Given the description of an element on the screen output the (x, y) to click on. 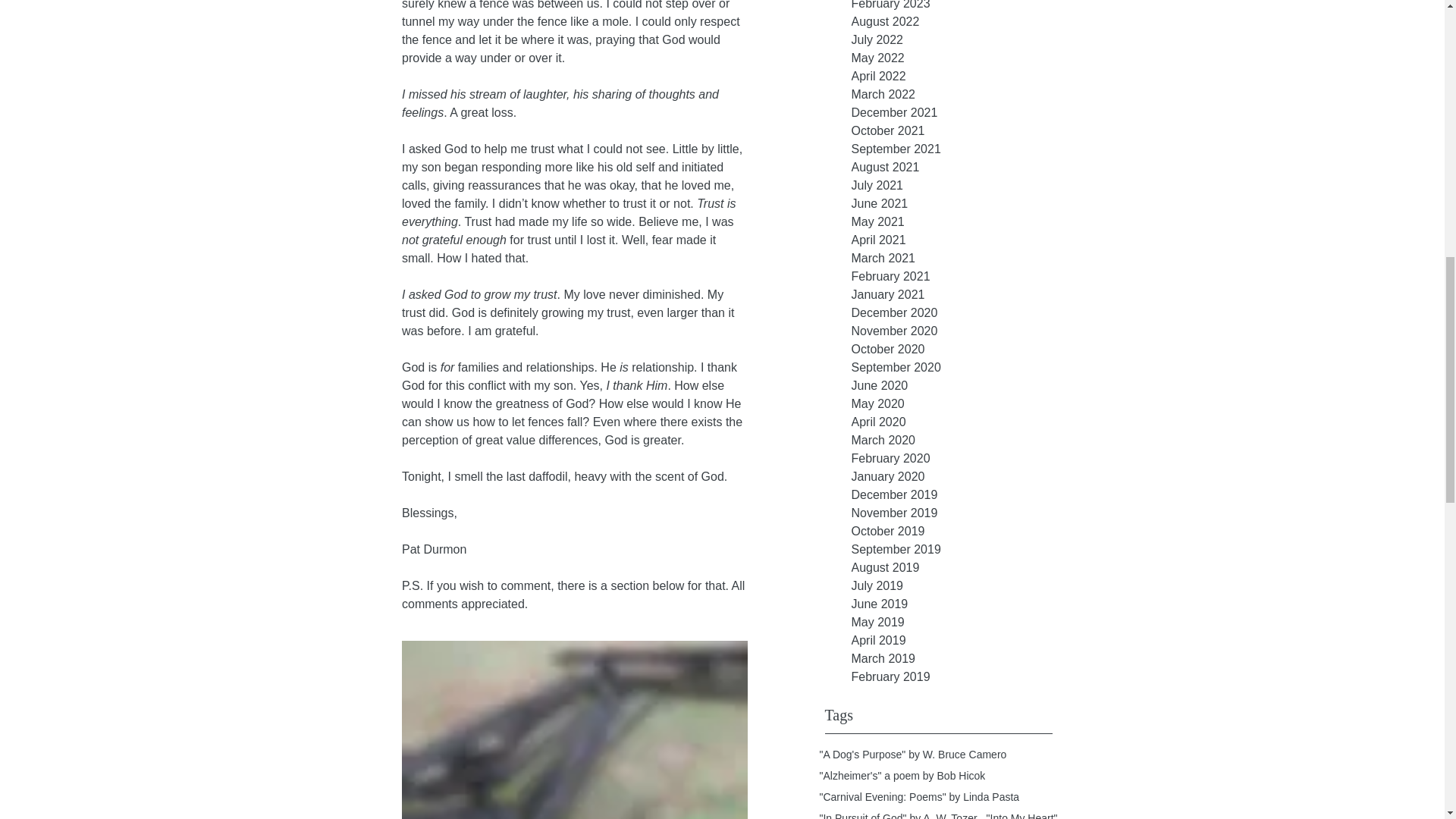
July 2022 (964, 40)
September 2021 (964, 149)
June 2021 (964, 203)
August 2022 (964, 22)
February 2023 (964, 6)
April 2022 (964, 76)
July 2021 (964, 185)
October 2021 (964, 131)
May 2022 (964, 58)
December 2021 (964, 113)
May 2021 (964, 221)
August 2021 (964, 167)
March 2022 (964, 94)
